Given the description of an element on the screen output the (x, y) to click on. 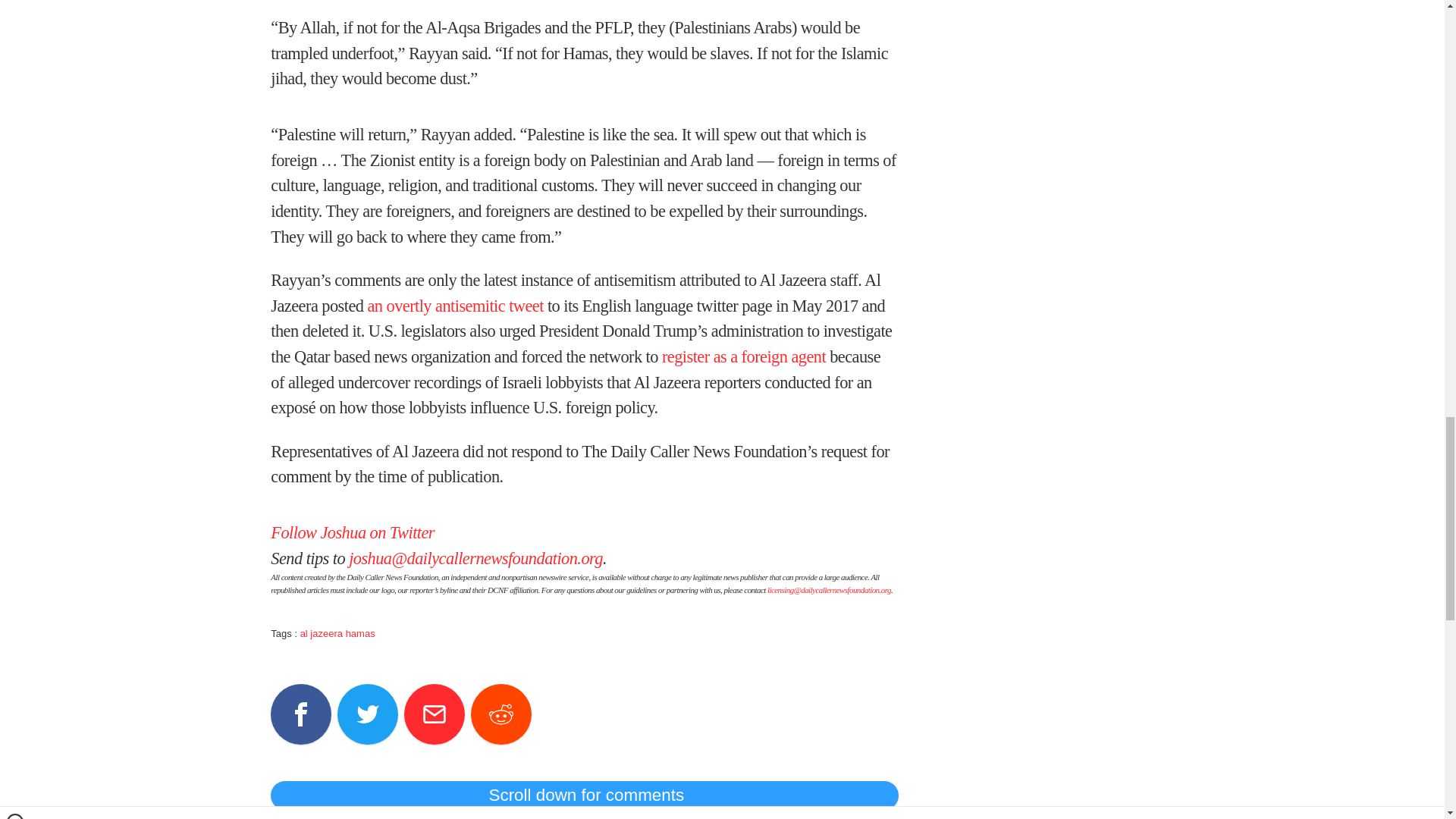
Scroll down for comments (584, 795)
an overtly antisemitic tweet (454, 305)
register as a foreign agent (743, 356)
